Given the description of an element on the screen output the (x, y) to click on. 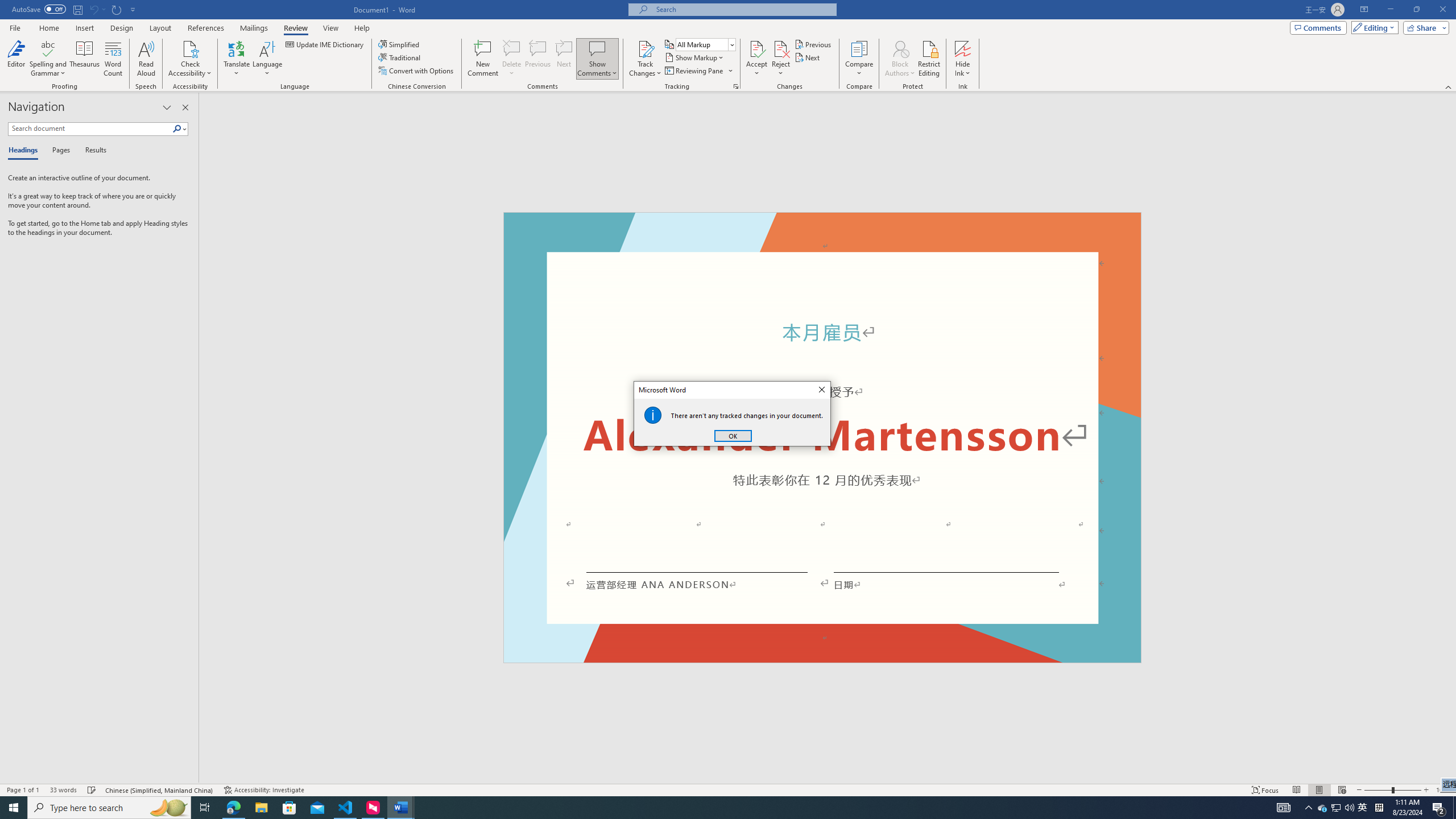
Delete (511, 48)
